Given the description of an element on the screen output the (x, y) to click on. 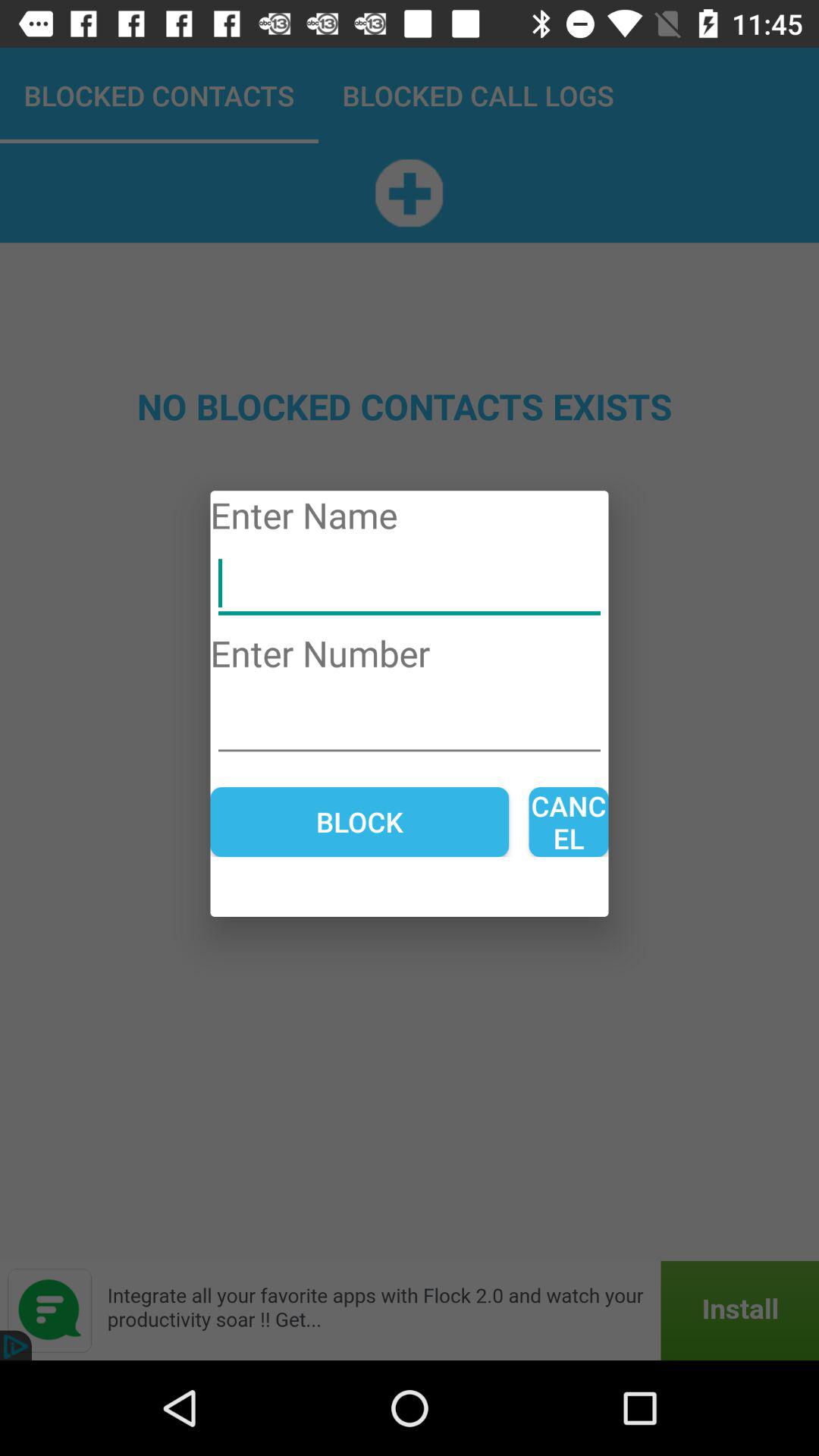
enter name (409, 584)
